Given the description of an element on the screen output the (x, y) to click on. 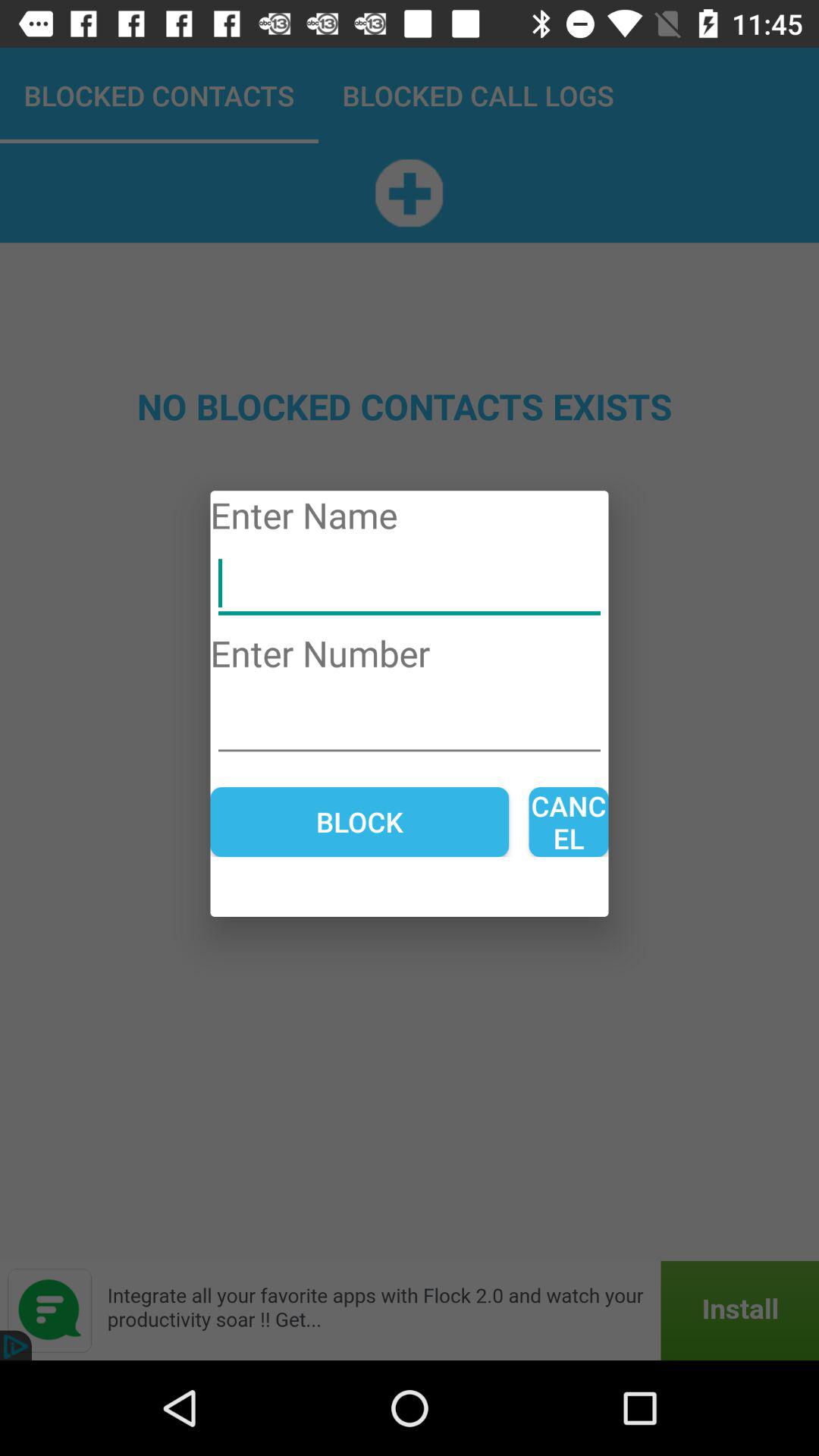
enter name (409, 584)
